Given the description of an element on the screen output the (x, y) to click on. 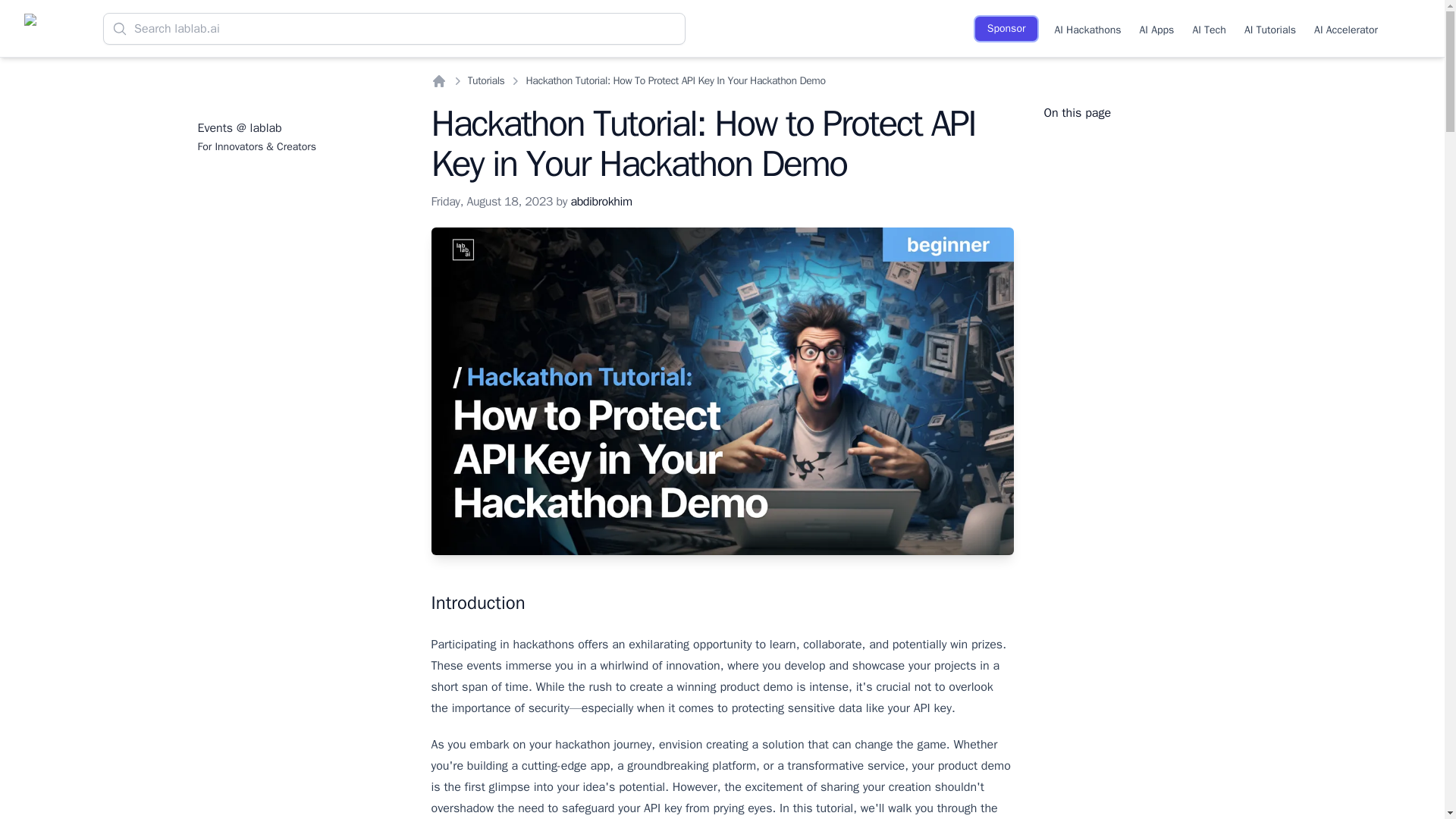
AI Tech (1208, 28)
abdibrokhim (600, 201)
Sponsor (1006, 28)
Tutorials (485, 80)
Home (437, 79)
AI Hackathons (1087, 28)
AI Tutorials (1269, 28)
AI Accelerator (1345, 28)
AI Apps (1157, 28)
